Given the description of an element on the screen output the (x, y) to click on. 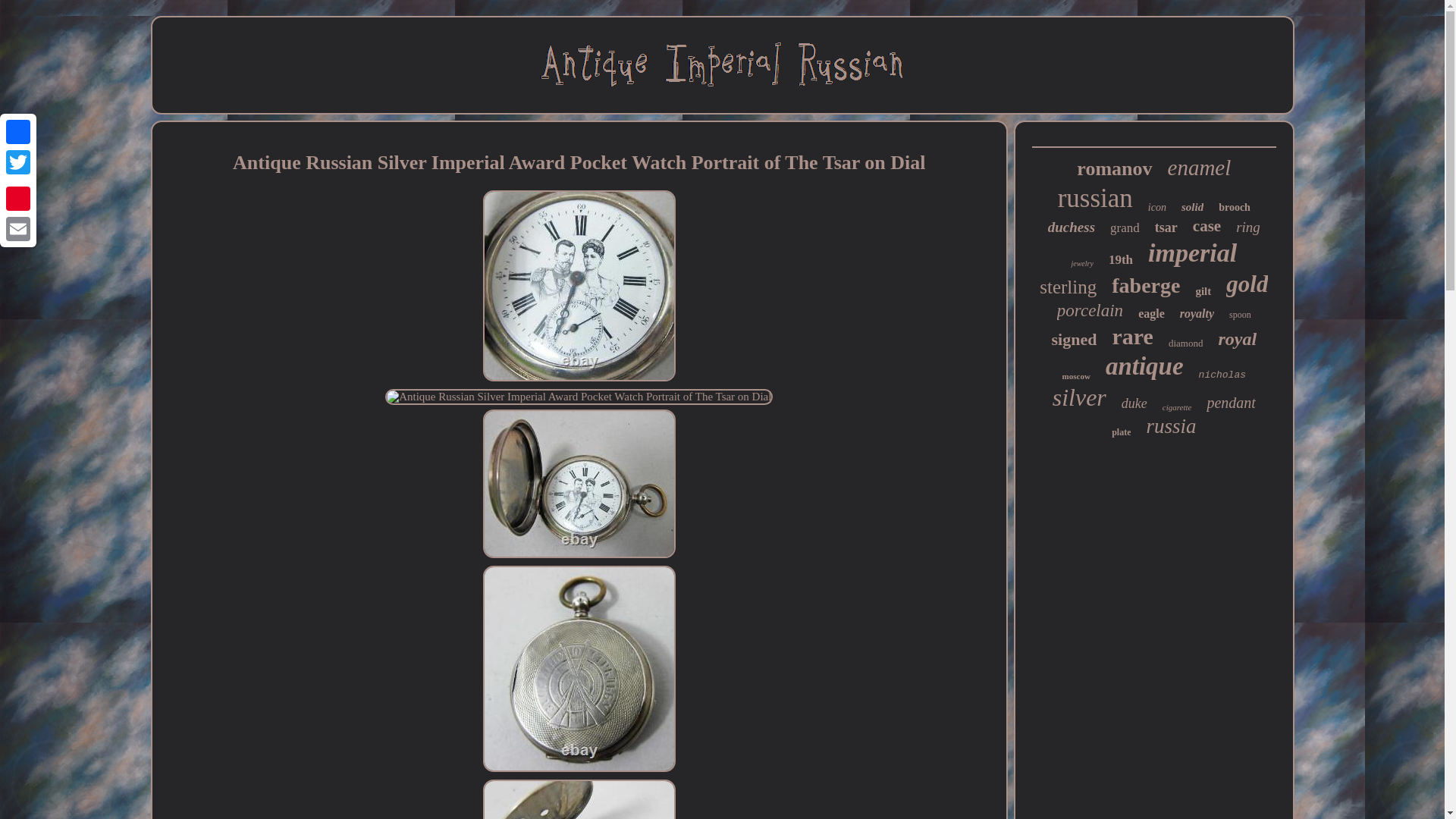
eagle (1151, 314)
duchess (1071, 227)
brooch (1234, 207)
royal (1236, 339)
imperial (1192, 253)
Twitter (17, 162)
tsar (1165, 227)
diamond (1186, 343)
royalty (1196, 314)
